Given the description of an element on the screen output the (x, y) to click on. 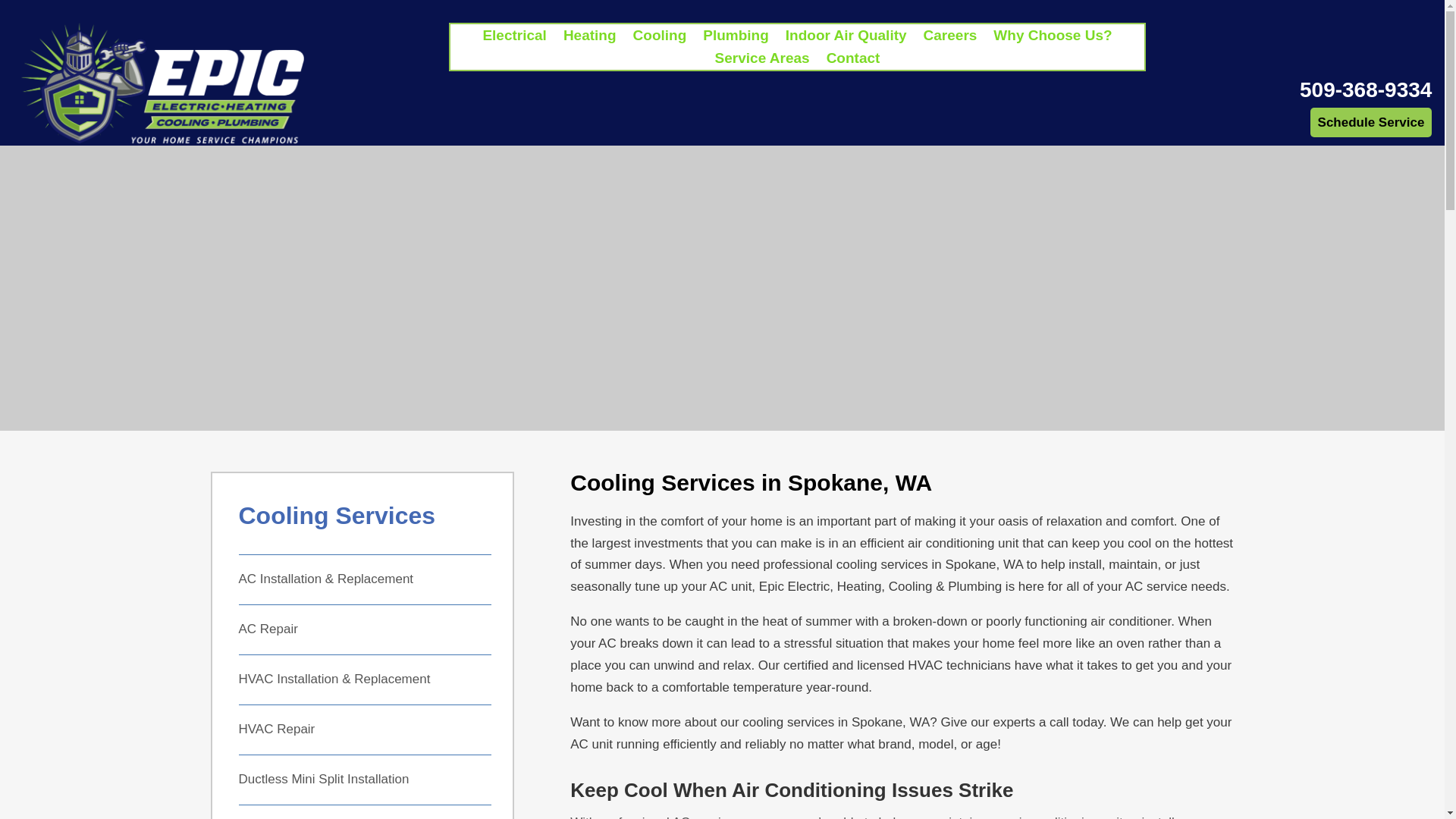
Heating (589, 38)
Electrical (514, 38)
Plumbing (735, 38)
Cooling (660, 38)
